Given the description of an element on the screen output the (x, y) to click on. 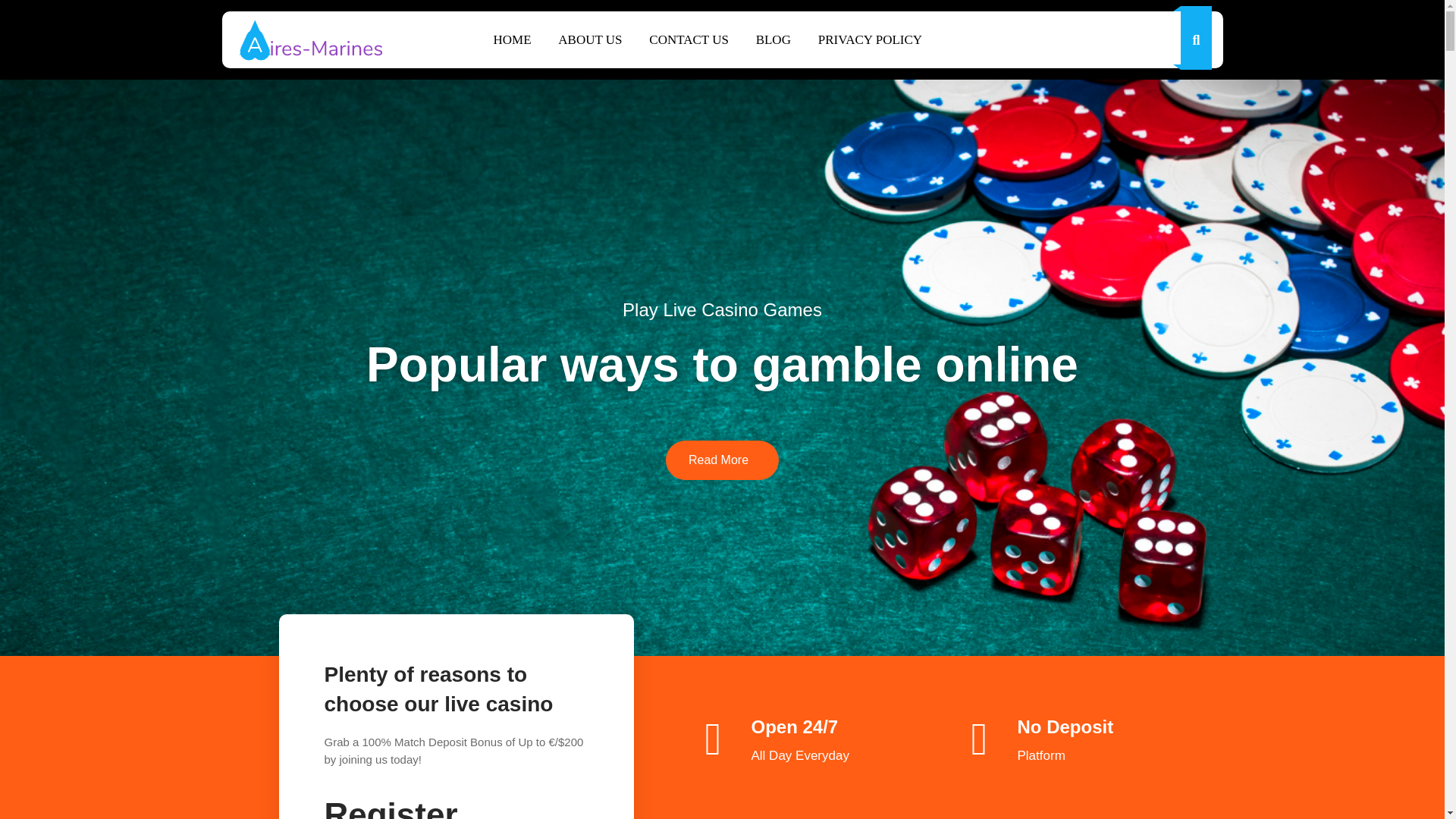
HOME (511, 40)
CONTACT US (689, 40)
ABOUT US (589, 40)
BLOG (773, 40)
PRIVACY POLICY (870, 40)
Read More (721, 459)
Register (391, 807)
